Given the description of an element on the screen output the (x, y) to click on. 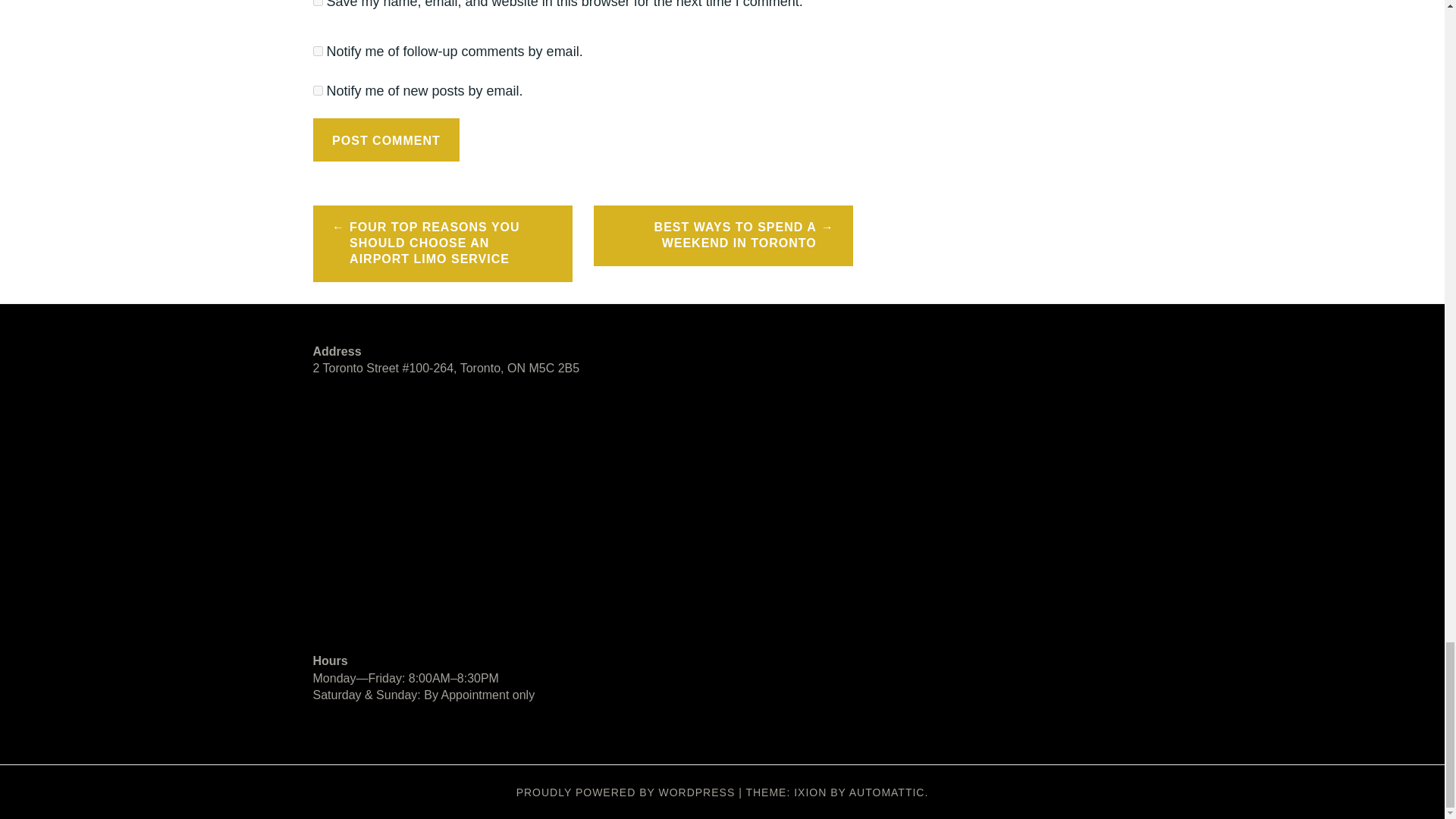
yes (317, 2)
Post Comment (386, 139)
Post Comment (386, 139)
subscribe (317, 50)
BEST WAYS TO SPEND A WEEKEND IN TORONTO (723, 235)
FOUR TOP REASONS YOU SHOULD CHOOSE AN AIRPORT LIMO SERVICE (442, 243)
subscribe (317, 90)
